Given the description of an element on the screen output the (x, y) to click on. 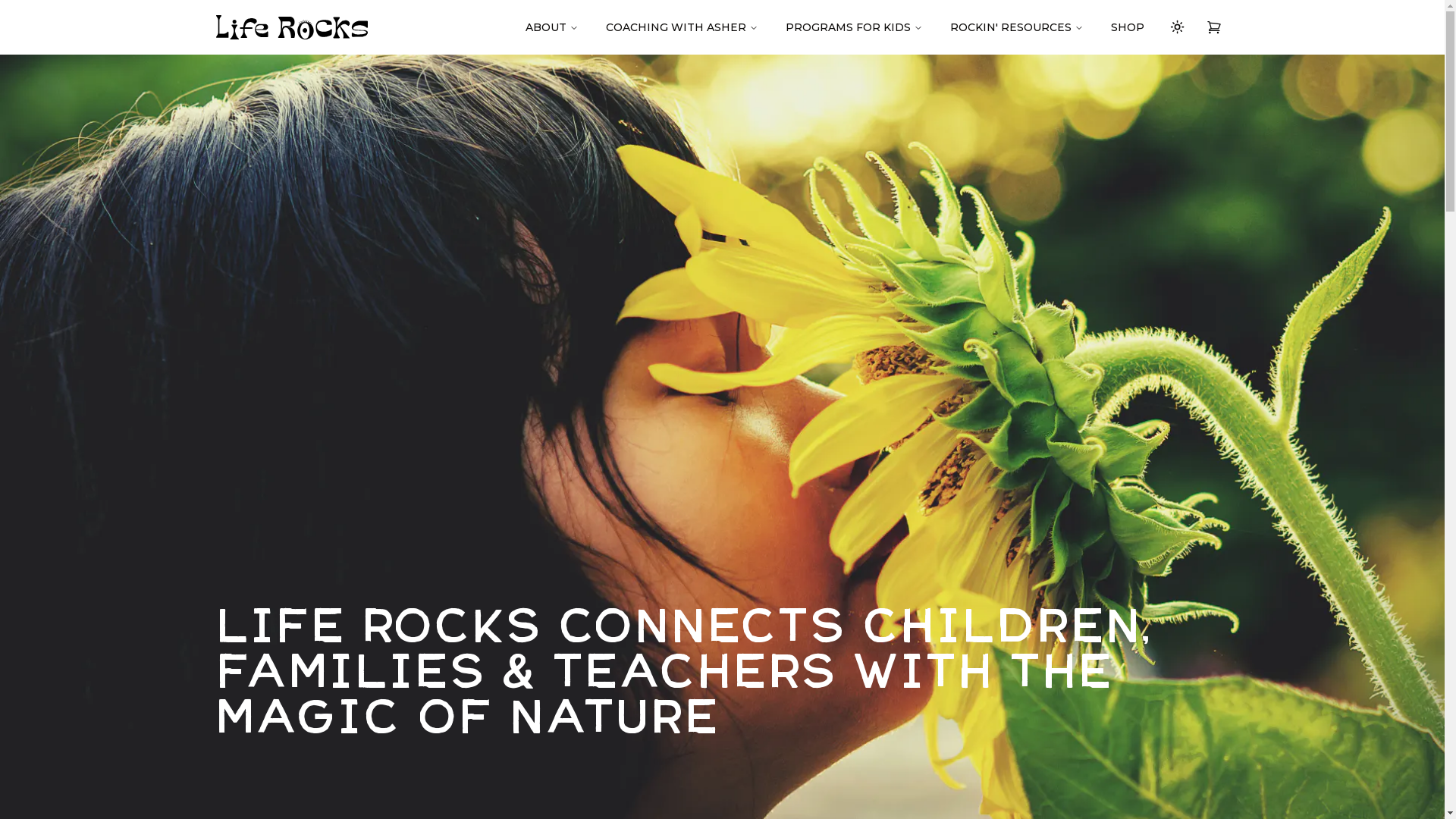
Toggle theme Element type: text (1176, 27)
SHOP Element type: text (1126, 27)
ROCKIN' RESOURCES Element type: text (1016, 27)
COACHING WITH ASHER Element type: text (681, 27)
PROGRAMS FOR KIDS Element type: text (854, 27)
ABOUT Element type: text (550, 27)
